Given the description of an element on the screen output the (x, y) to click on. 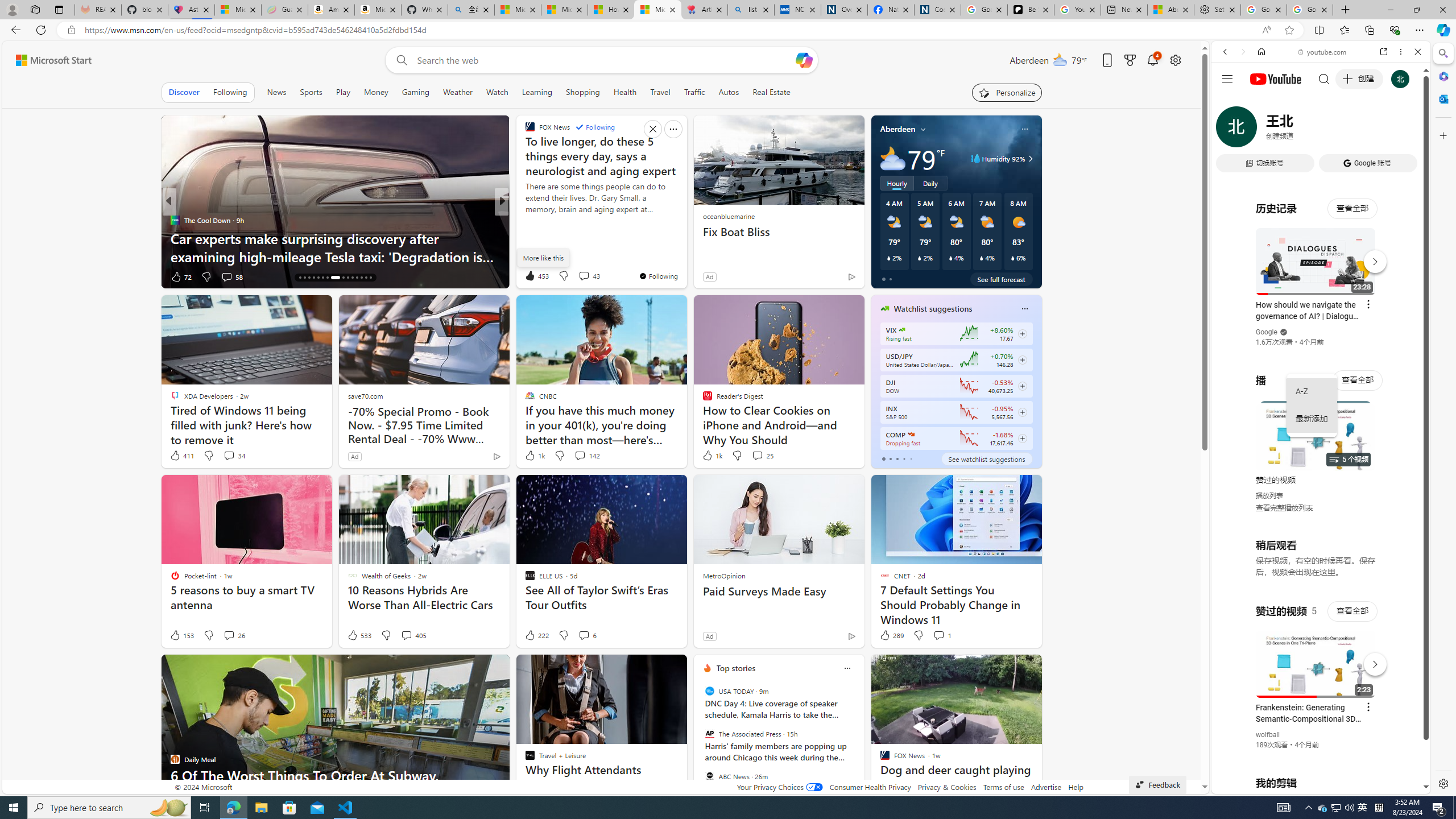
289 Like (890, 634)
Daily (929, 183)
AutomationID: tab-23 (331, 277)
US[ju] (1249, 785)
save70.com (364, 395)
Class: weather-current-precipitation-glyph (1012, 257)
1k Like (711, 455)
INSIDER (524, 219)
